Given the description of an element on the screen output the (x, y) to click on. 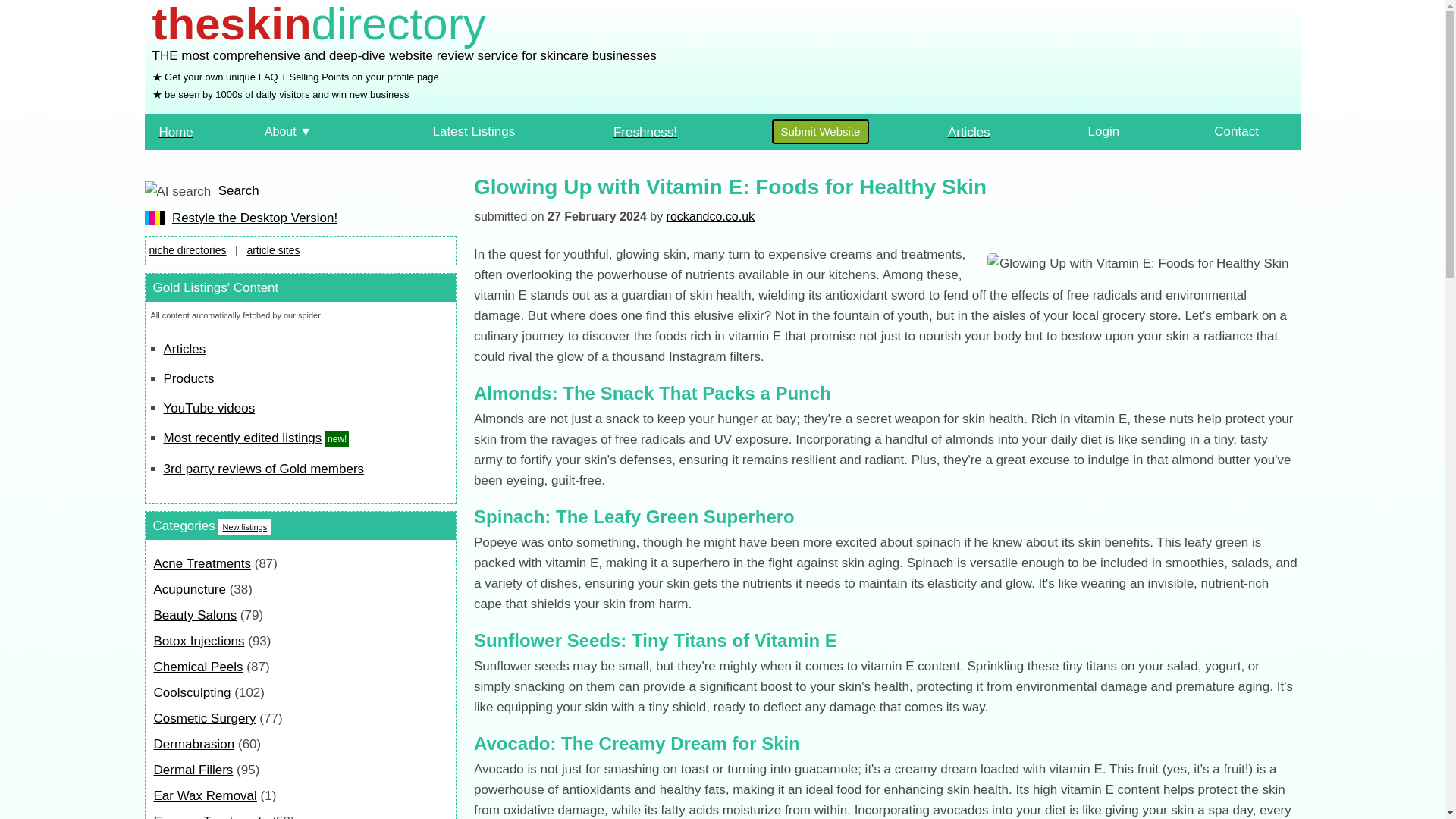
New listings (244, 526)
Articles (184, 349)
Login (1103, 131)
3rd party reviews of Gold members (264, 468)
Botox Injections (198, 640)
Acne Treatments (201, 563)
Chemical Peels (197, 667)
Latest Listings (473, 131)
Freshness! (644, 131)
Search (238, 190)
Contact (1236, 131)
Ear Wax Removal (204, 795)
Most recently edited listings (242, 437)
Restyle the Desktop Version! (254, 217)
Acupuncture (188, 589)
